Given the description of an element on the screen output the (x, y) to click on. 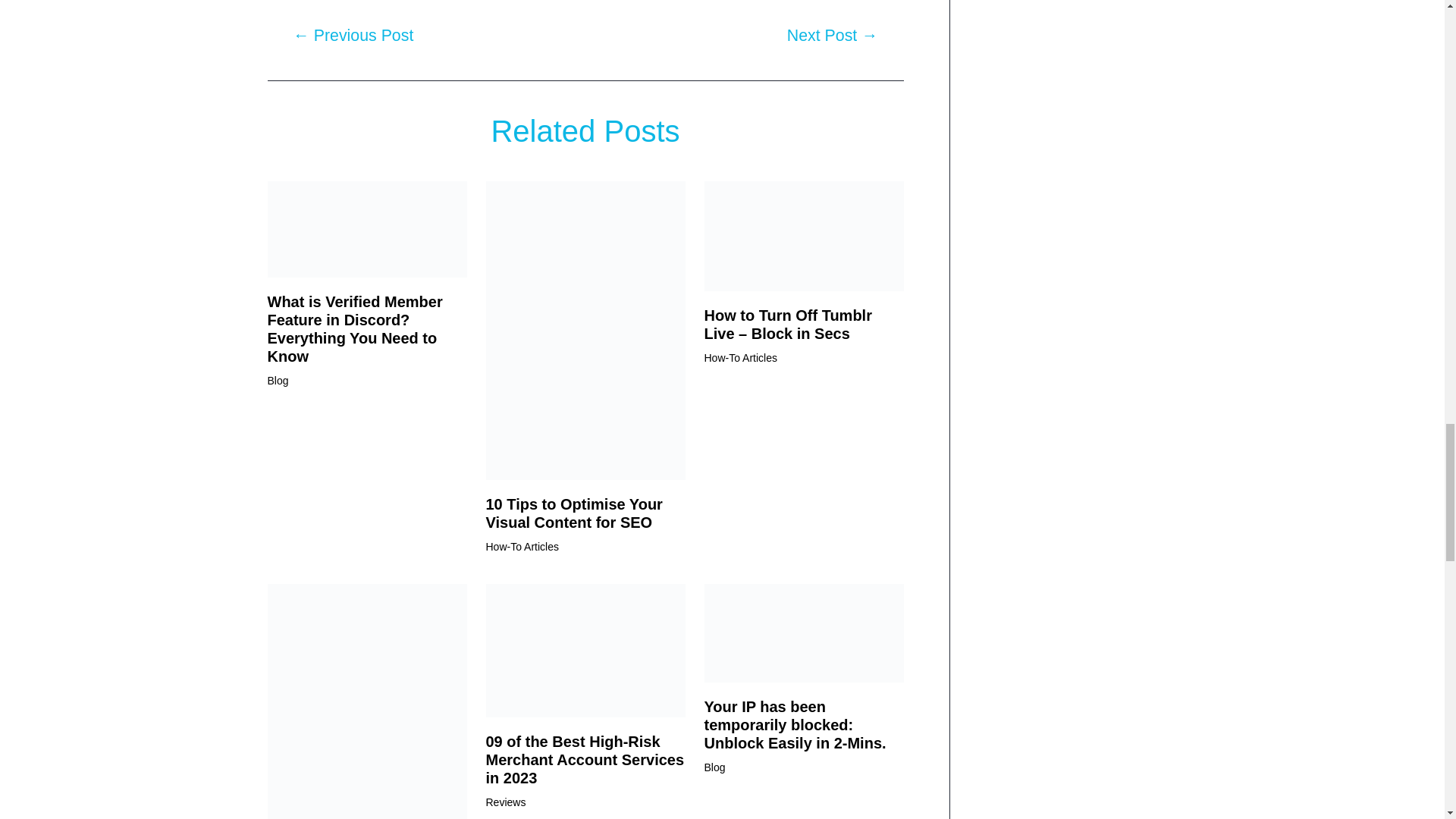
How-To Articles (520, 546)
10 Tips to Optimise Your Visual Content for SEO (573, 513)
Blog (277, 380)
